Given the description of an element on the screen output the (x, y) to click on. 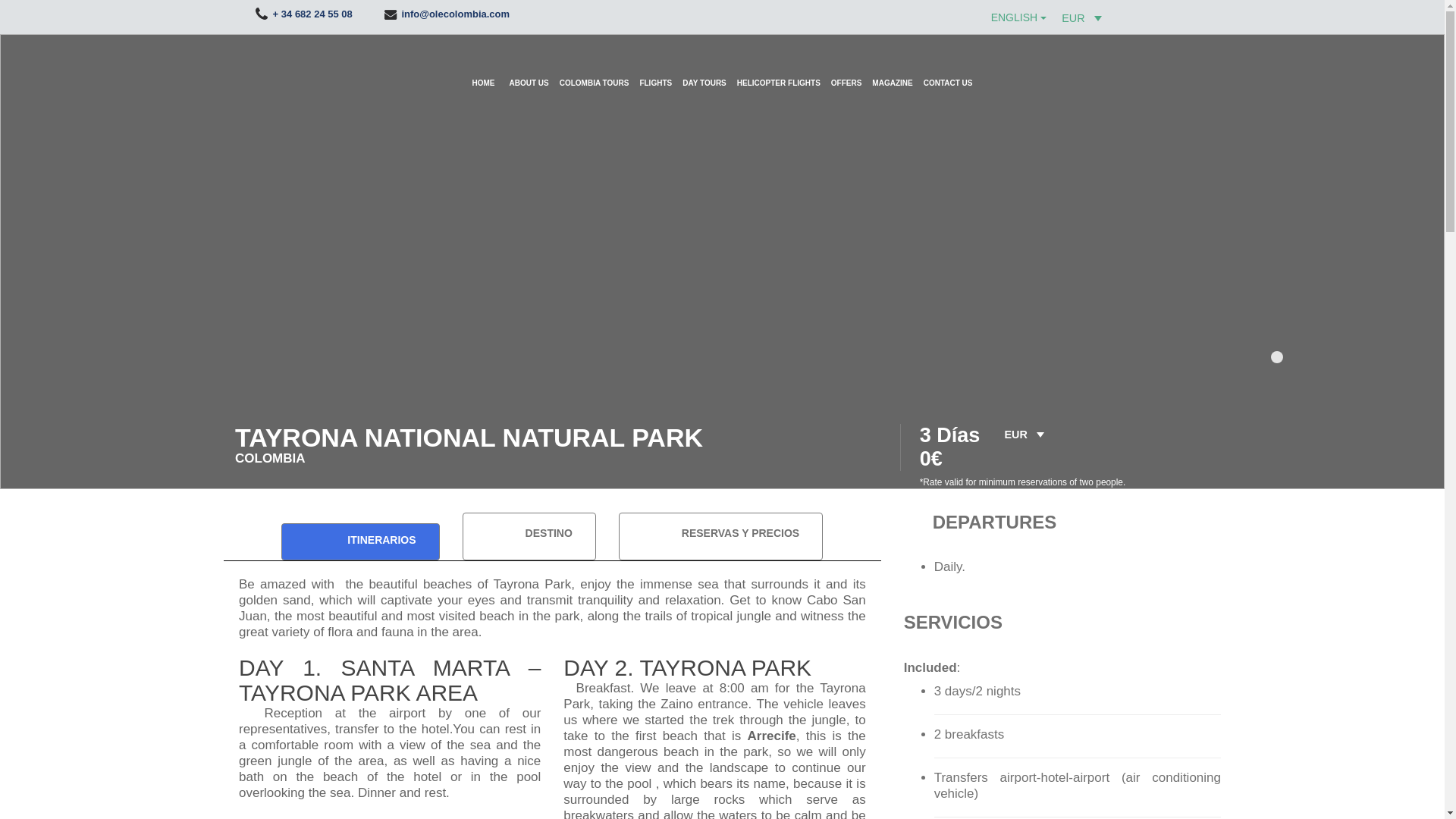
HELICOPTER FLIGHTS (778, 68)
EUR (1083, 17)
ENGLISH (1019, 17)
COLOMBIA TOURS (594, 68)
EUR (1024, 434)
DESTINO (529, 536)
ITINERARIOS (360, 541)
RESERVAS Y PRECIOS (720, 536)
